Given the description of an element on the screen output the (x, y) to click on. 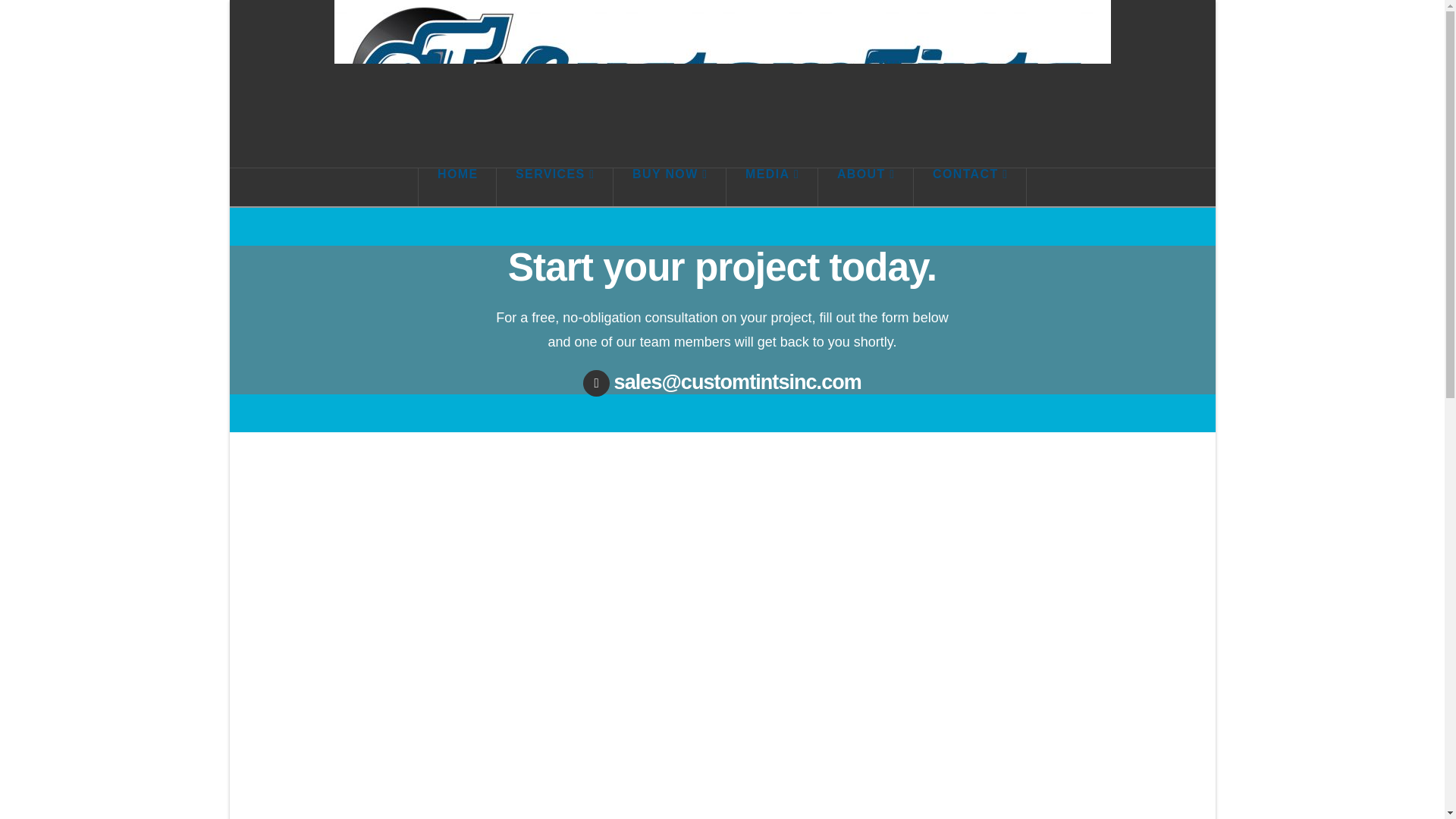
SERVICES (554, 187)
BUY NOW (669, 187)
ABOUT (866, 187)
HOME (456, 187)
MEDIA (772, 187)
CONTACT (970, 187)
